Given the description of an element on the screen output the (x, y) to click on. 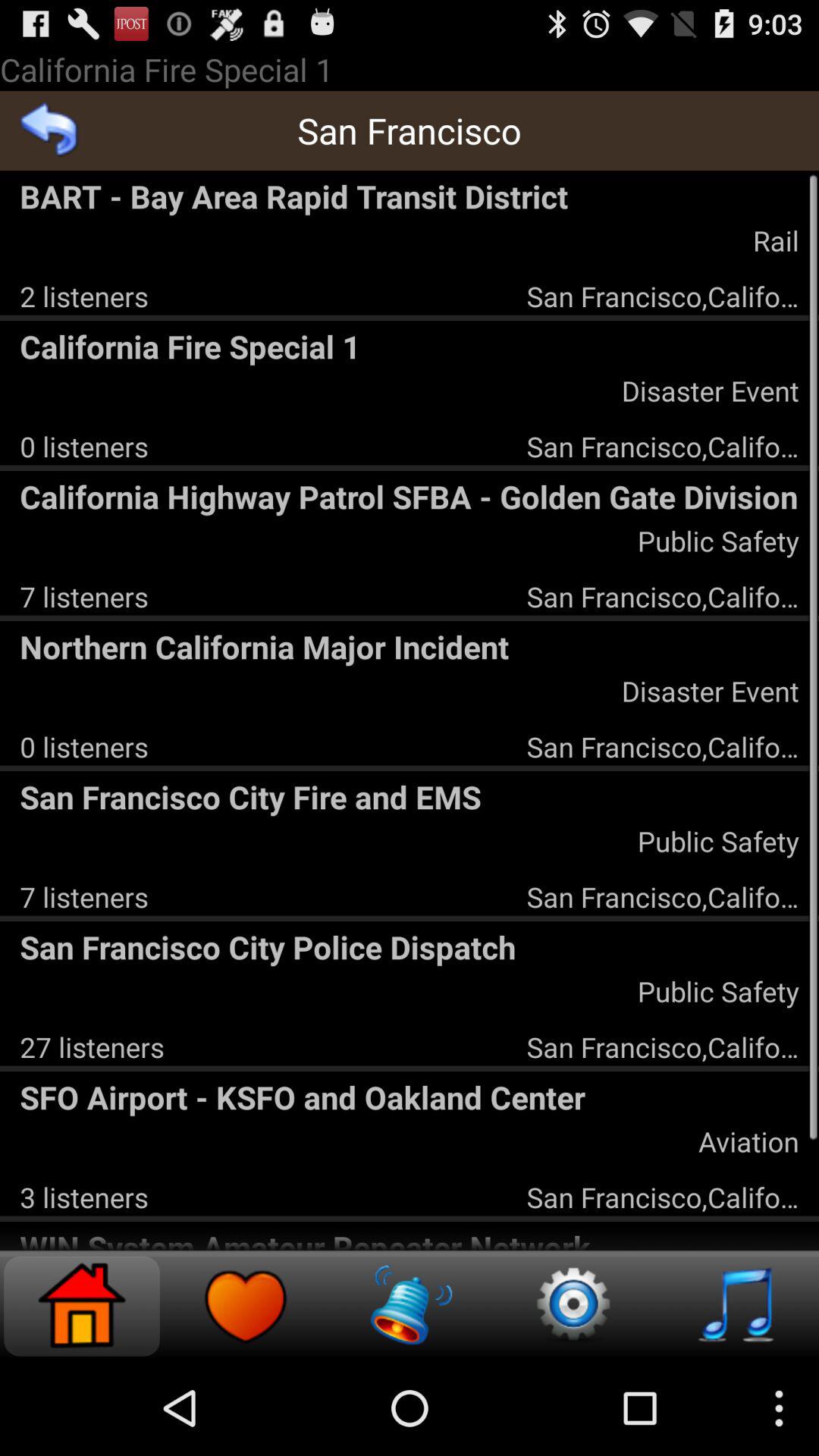
tap the rail app (776, 240)
